Given the description of an element on the screen output the (x, y) to click on. 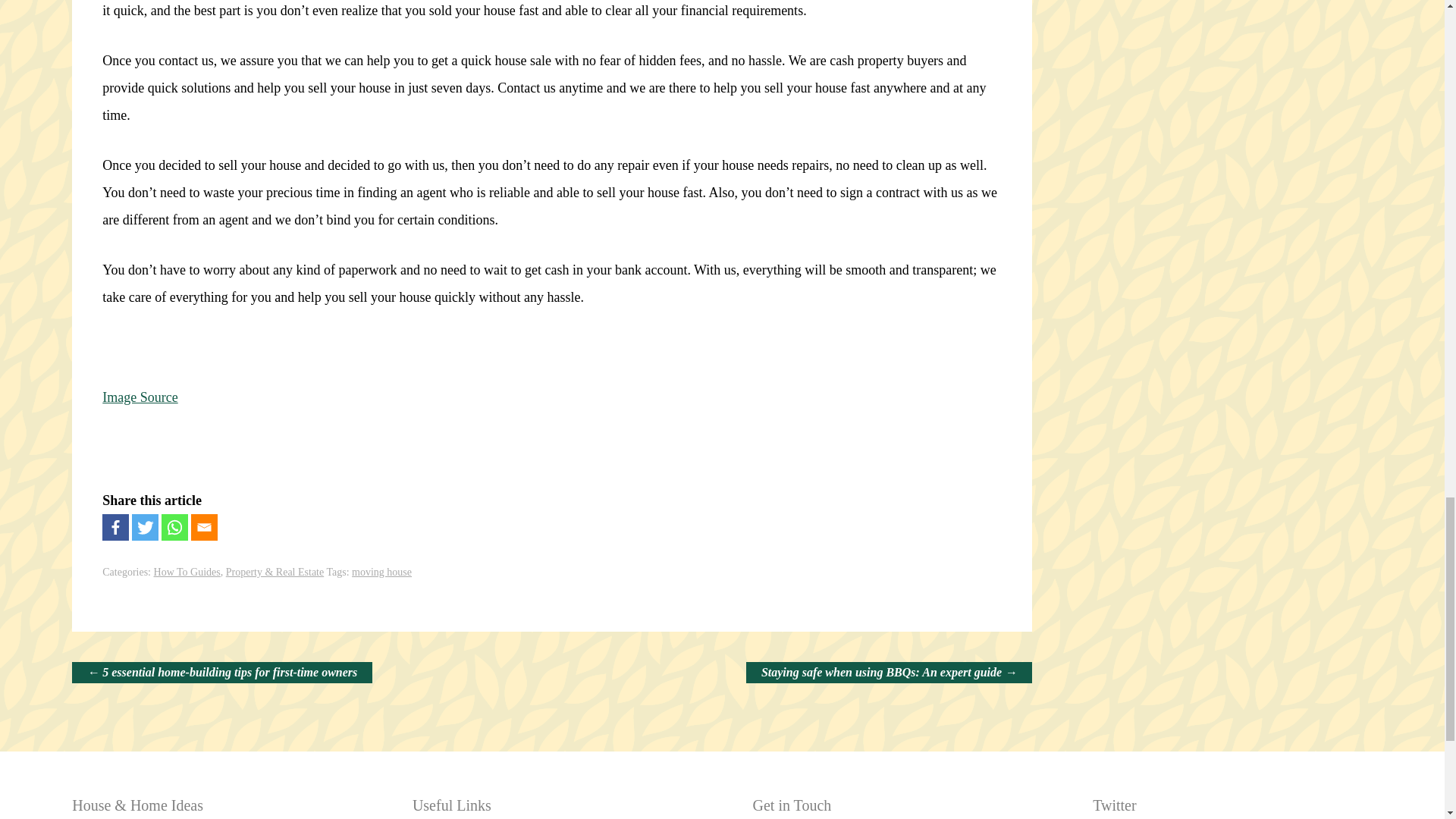
moving house (382, 572)
Image Source (139, 396)
How To Guides (187, 572)
